Given the description of an element on the screen output the (x, y) to click on. 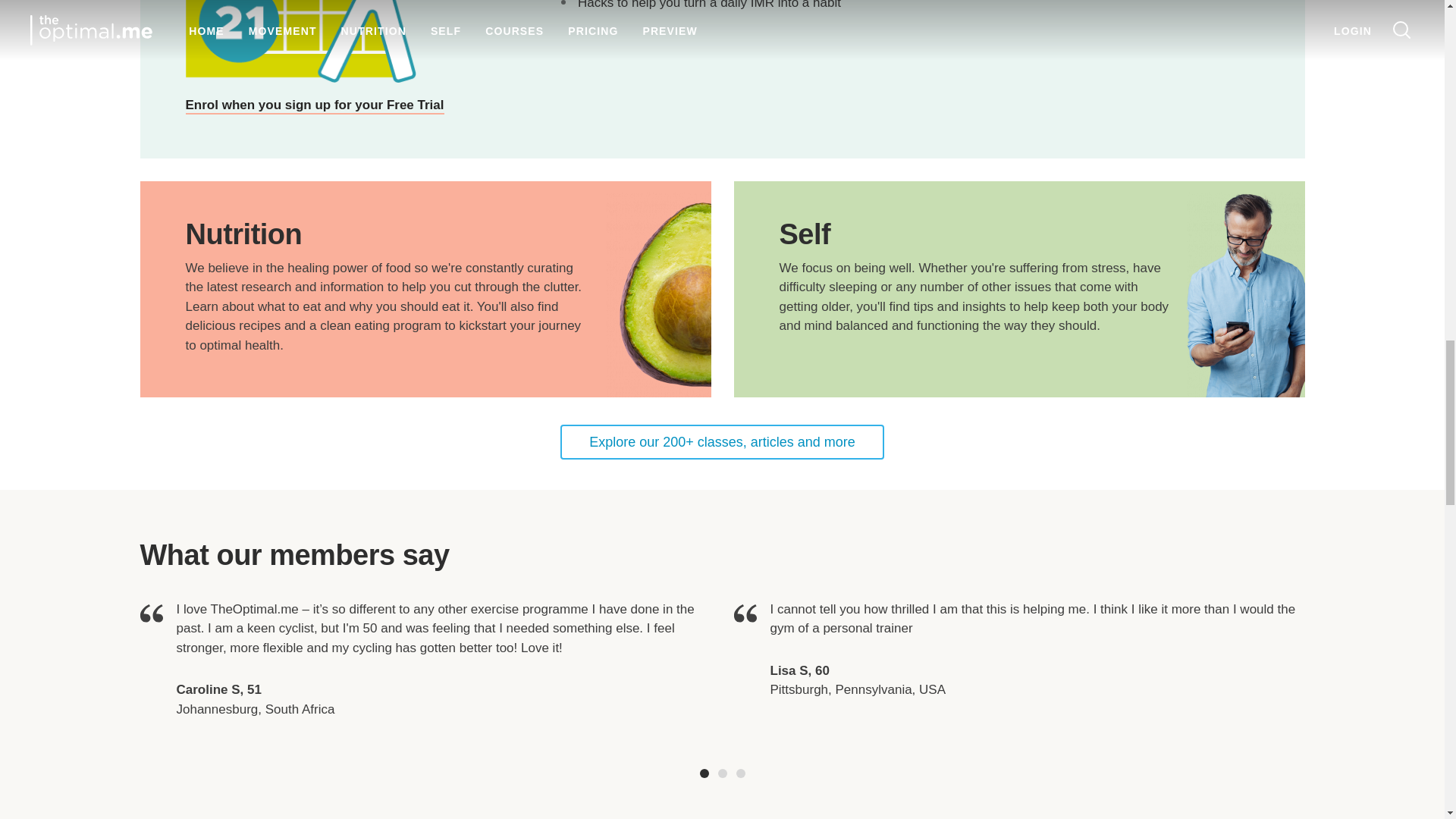
Enrol when you sign up for your Free Trial (314, 105)
